Given the description of an element on the screen output the (x, y) to click on. 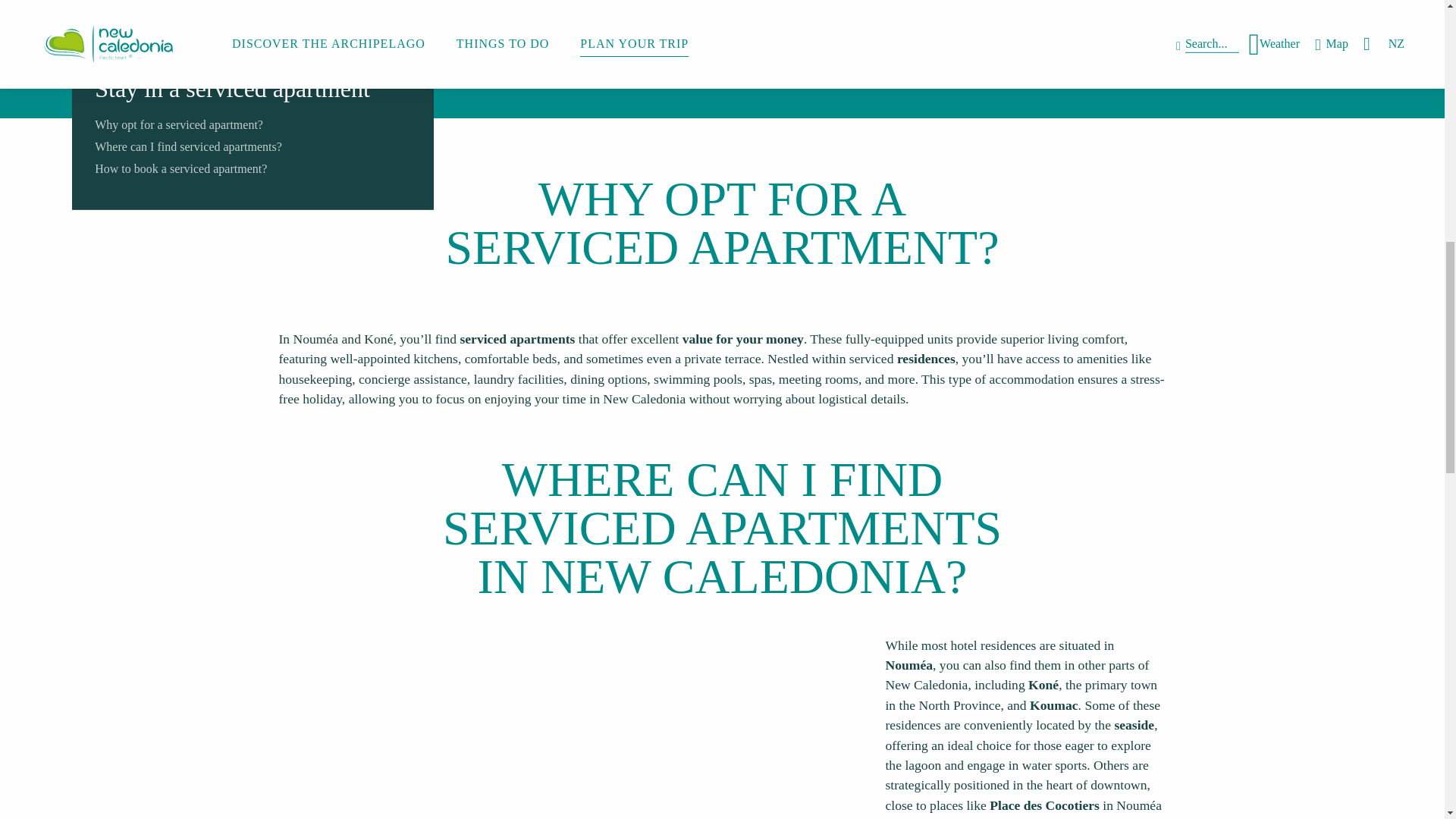
Where can I find serviced apartments? (188, 146)
How to book a serviced apartment? (180, 168)
Why opt for a serviced apartment? (178, 124)
